Given the description of an element on the screen output the (x, y) to click on. 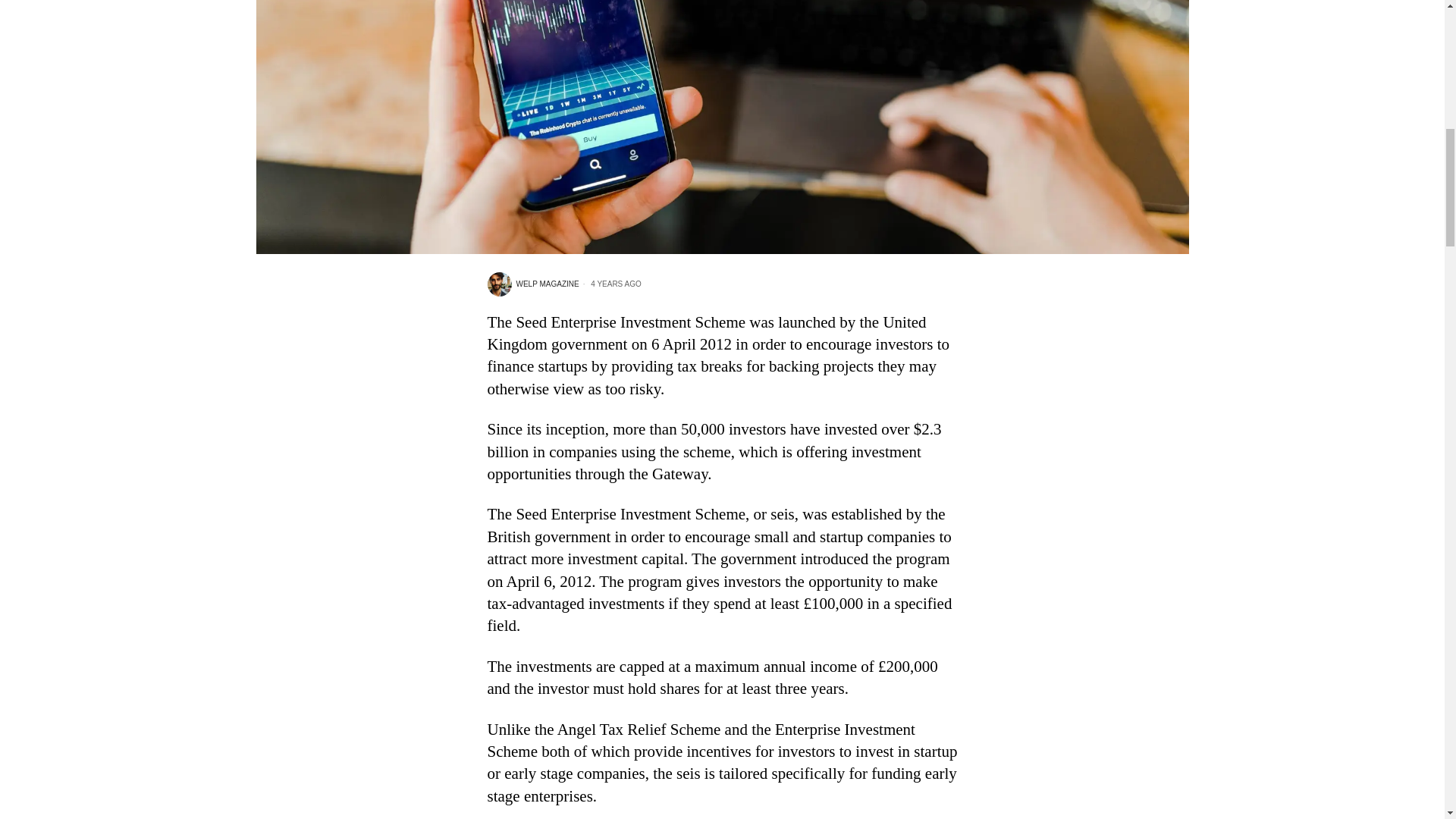
29 Aug, 2020 01:00:29 (610, 284)
WELP MAGAZINE (532, 283)
